Given the description of an element on the screen output the (x, y) to click on. 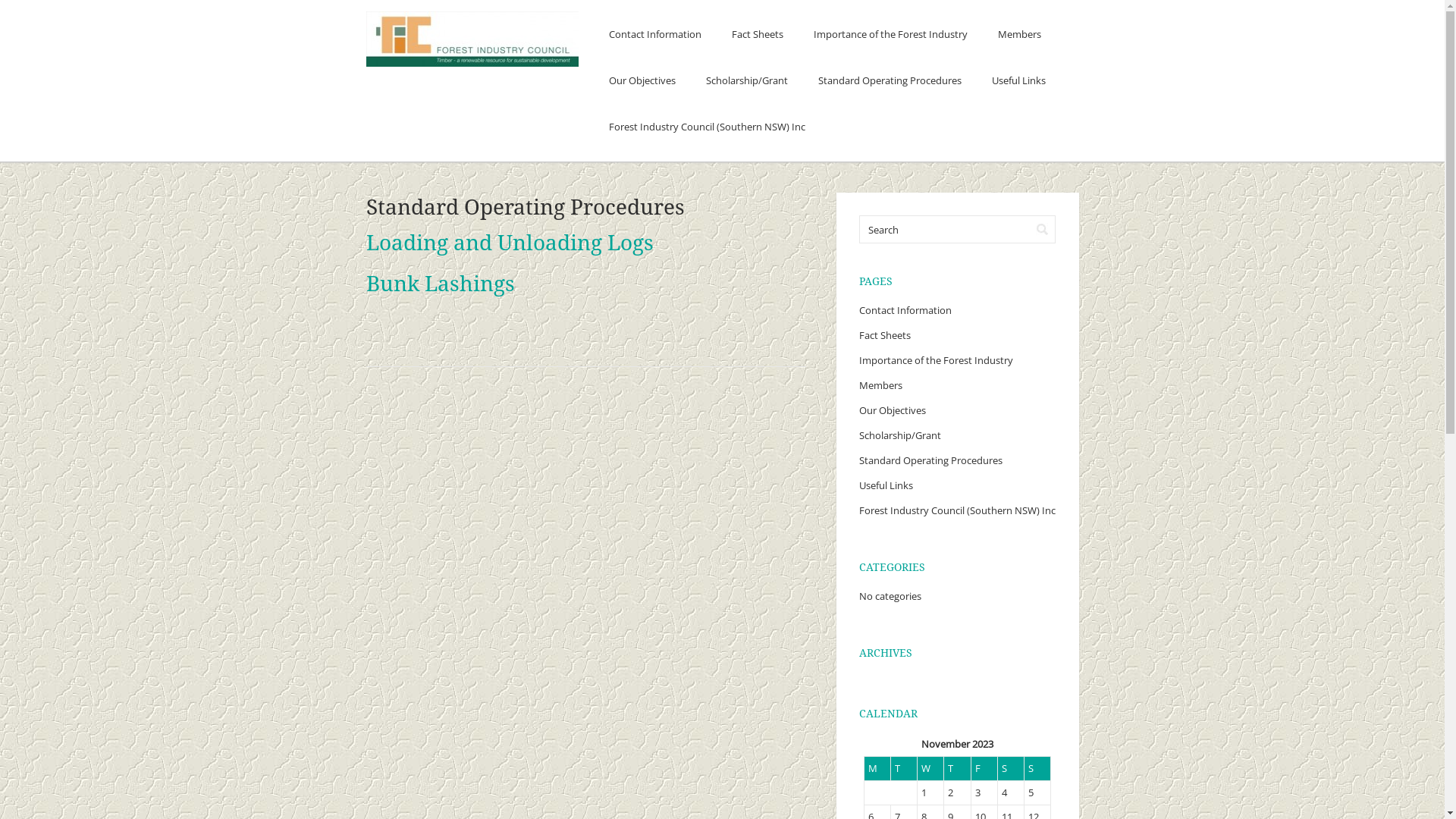
Importance of the Forest Industry Element type: text (889, 34)
Members Element type: text (1019, 34)
Scholarship/Grant Element type: text (899, 435)
Fact Sheets Element type: text (756, 34)
Bunk Lashings Element type: text (439, 283)
Importance of the Forest Industry Element type: text (935, 360)
Contact Information Element type: text (904, 309)
Search Element type: text (1041, 228)
Useful Links Element type: text (1018, 80)
Useful Links Element type: text (885, 485)
Standard Operating Procedures Element type: text (888, 80)
Our Objectives Element type: text (891, 410)
Fact Sheets Element type: text (884, 335)
Scholarship/Grant Element type: text (746, 80)
Our Objectives Element type: text (641, 80)
Contact Information Element type: text (654, 34)
Loading and Unloading Logs Element type: text (508, 242)
Standard Operating Procedures Element type: text (929, 460)
Members Element type: text (879, 385)
Forest Industry Council (Southern NSW) Inc Element type: text (956, 510)
Forest Industry Council (Southern NSW) Inc Element type: text (706, 126)
